Given the description of an element on the screen output the (x, y) to click on. 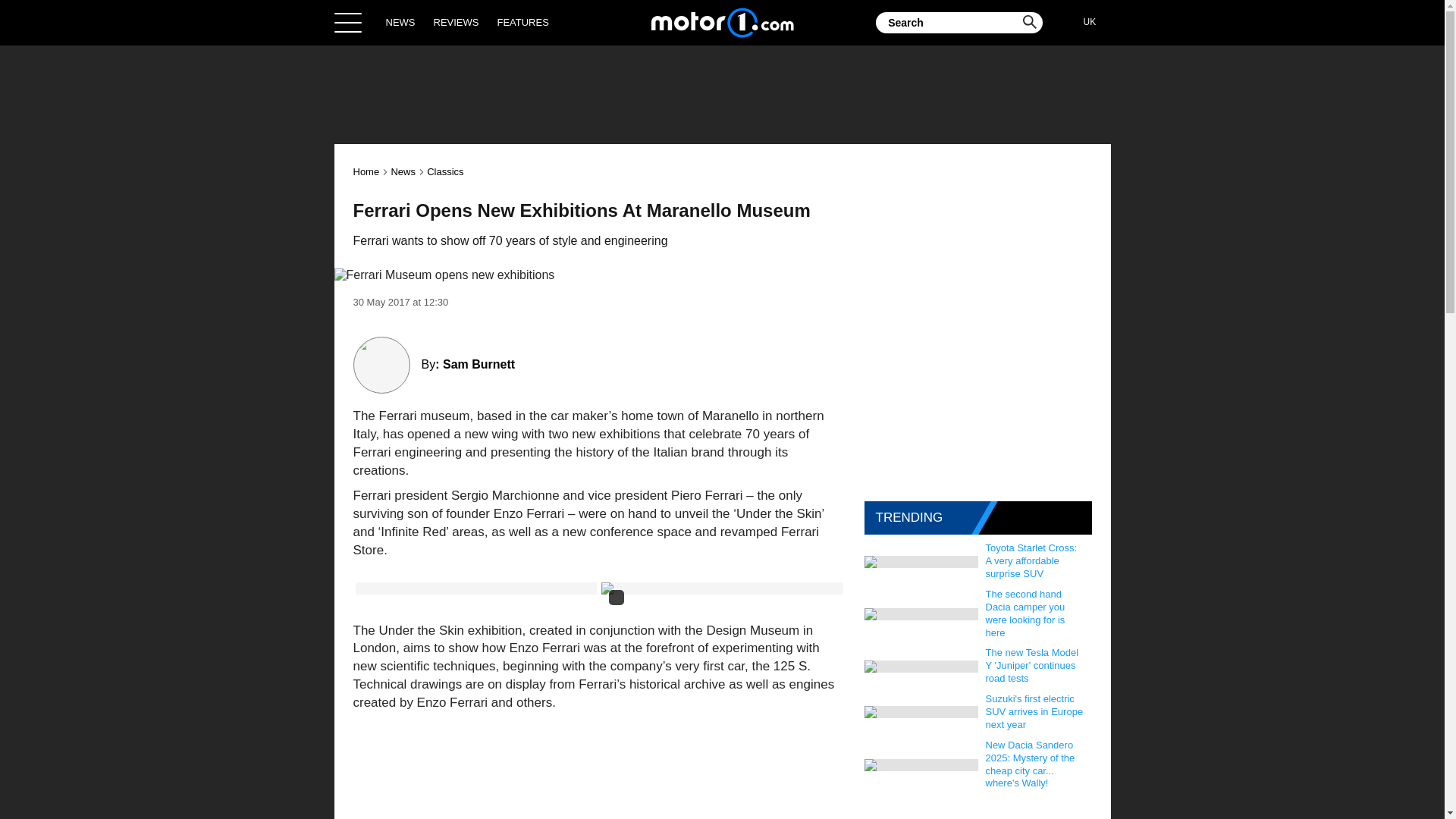
NEWS (399, 22)
Sam Burnett (478, 364)
FEATURES (522, 22)
Home (721, 22)
Classics (444, 171)
REVIEWS (456, 22)
Home (366, 171)
News (402, 171)
